Given the description of an element on the screen output the (x, y) to click on. 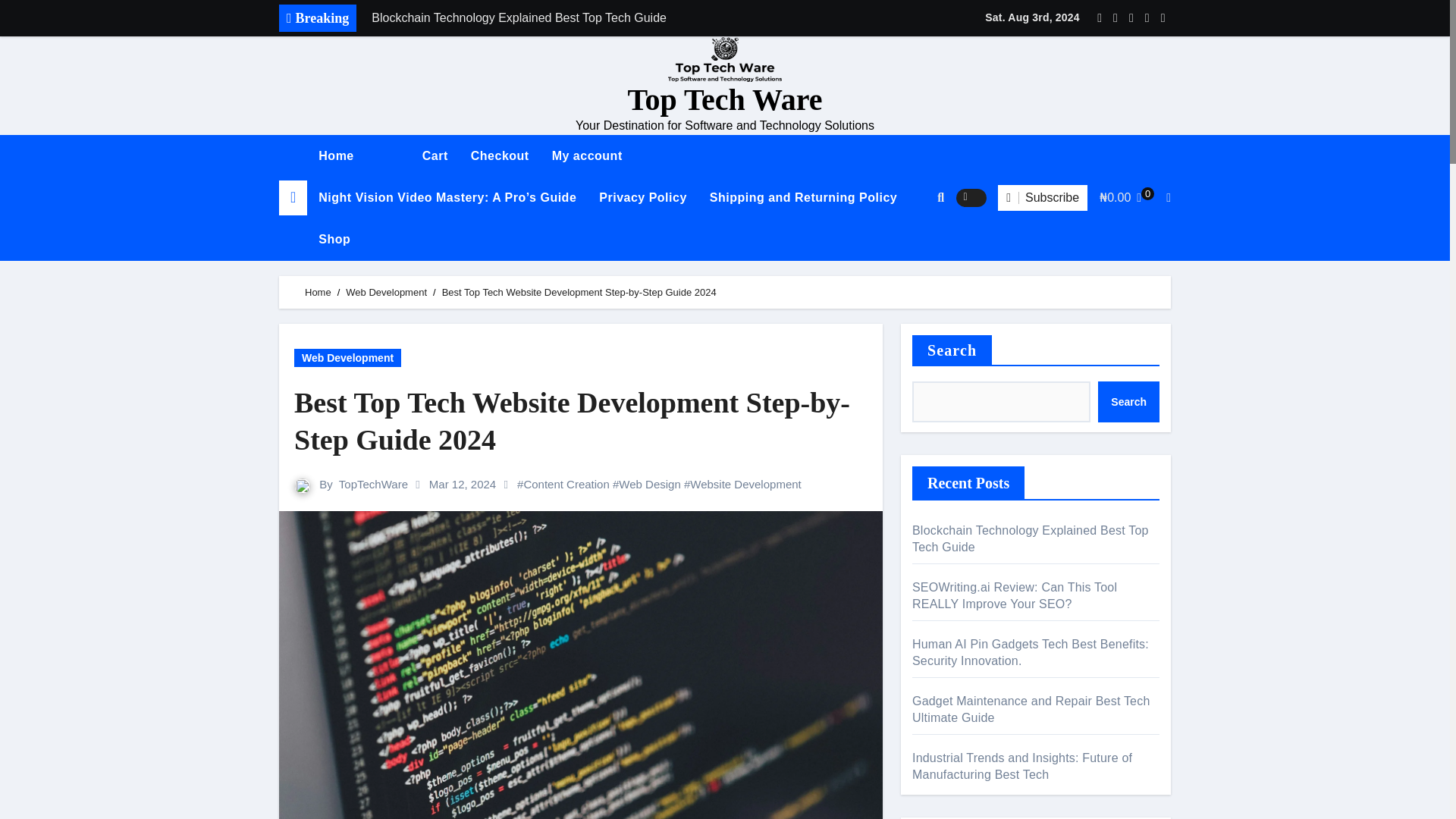
Home (336, 155)
My account (586, 155)
Subscribe (1042, 197)
Best Top Tech Website Development Step-by-Step Guide 2024 (580, 421)
Cart (435, 155)
Privacy Policy (643, 197)
Blockchain Technology Explained Best Top Tech Guide (574, 18)
Checkout (500, 155)
Home (336, 155)
Top Tech Ware (724, 99)
Shipping and Returning Policy (803, 197)
Shop (334, 239)
